Given the description of an element on the screen output the (x, y) to click on. 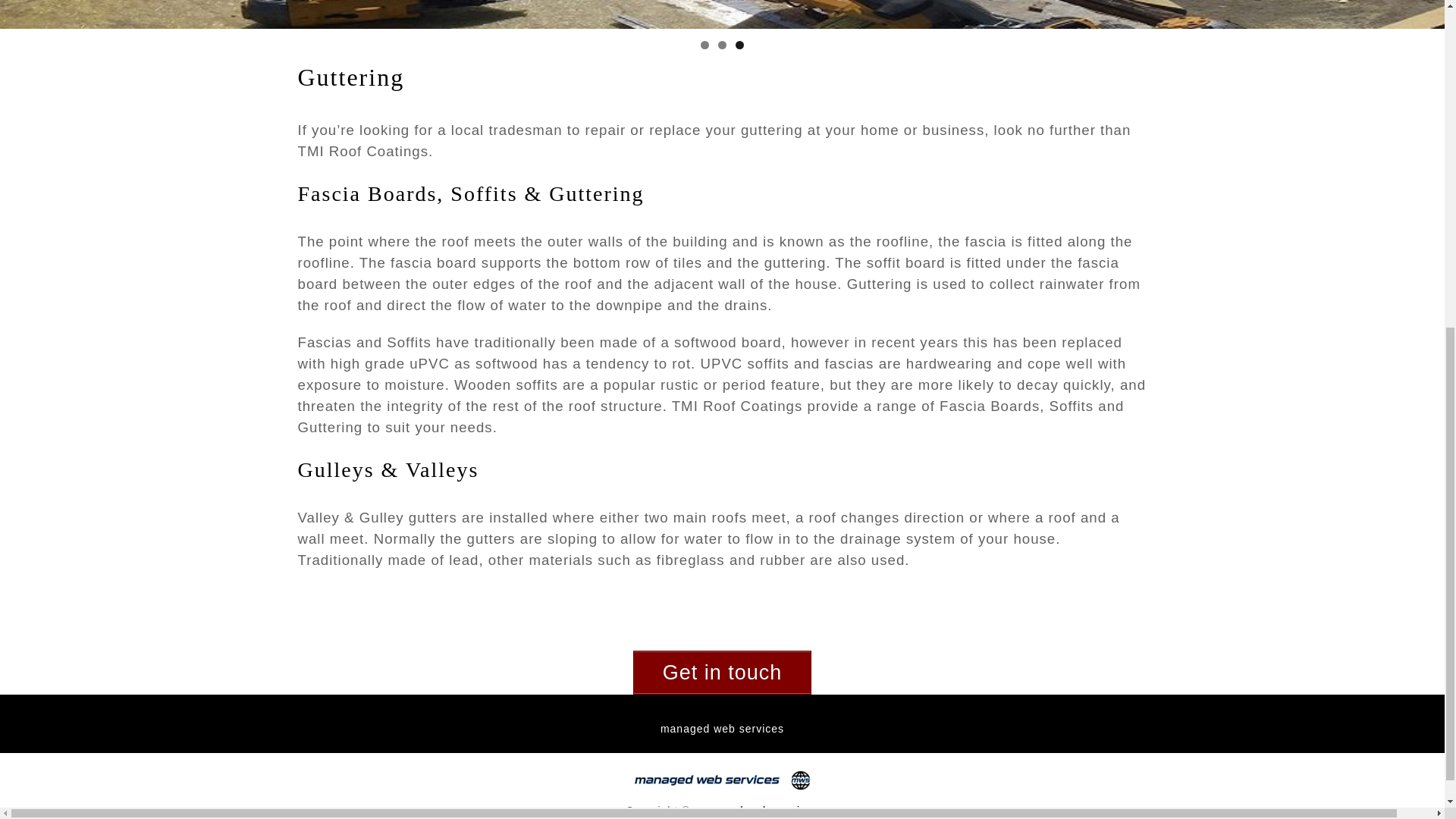
Get in touch (722, 672)
managed web services (722, 728)
3 (739, 44)
managed-web-services (756, 810)
2 (721, 44)
managed-web-services (756, 810)
1 (704, 44)
